Given the description of an element on the screen output the (x, y) to click on. 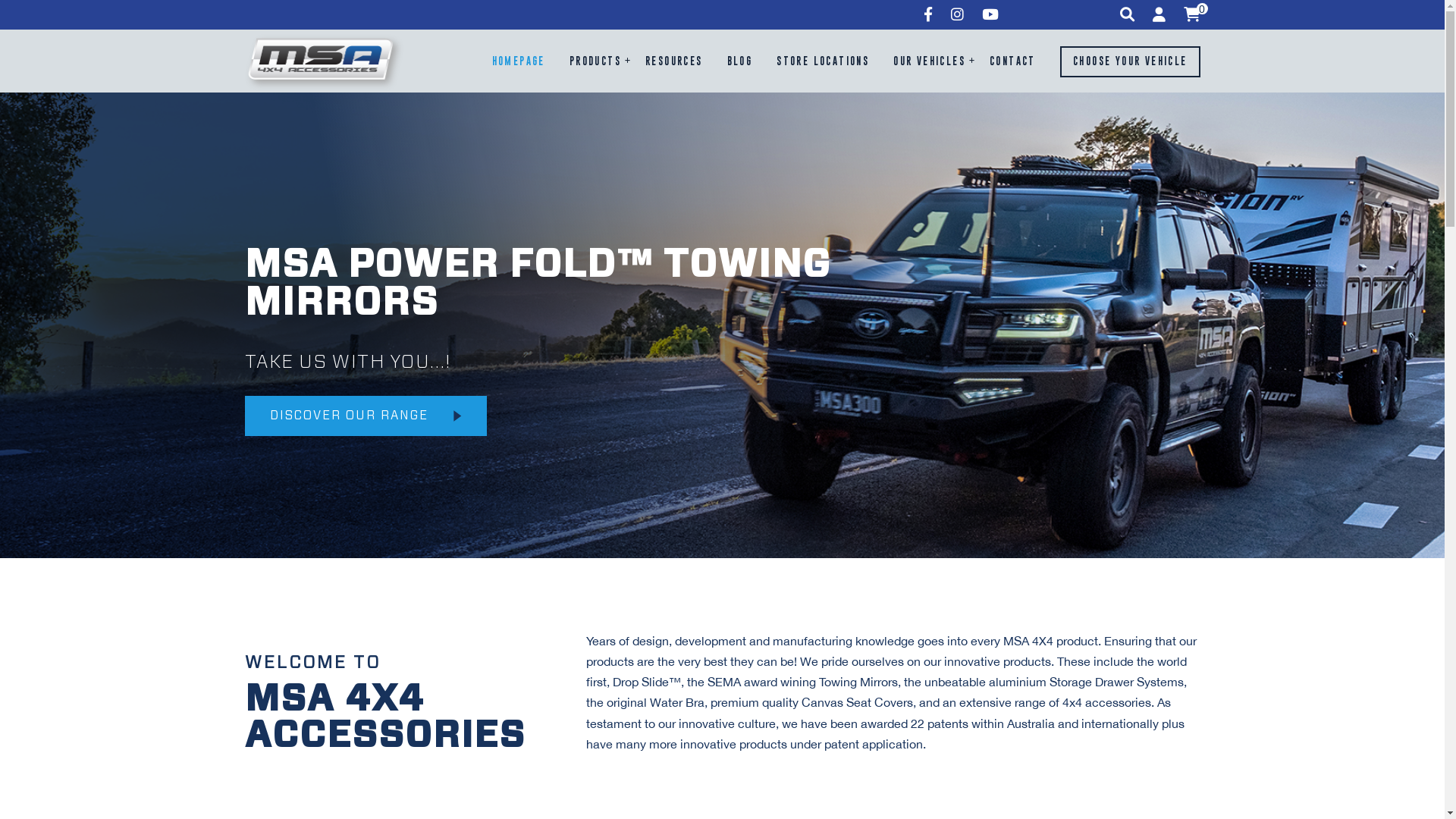
CONTACT Element type: text (1012, 61)
HOMEPAGE Element type: text (518, 61)
RESOURCES Element type: text (673, 61)
STORE LOCATIONS Element type: text (822, 61)
0 Element type: text (1191, 14)
OUR VEHICLES Element type: text (929, 61)
PRODUCTS Element type: text (595, 61)
CHOOSE YOUR VEHICLE Element type: text (1130, 61)
DISCOVER OUR RANGE Element type: text (365, 415)
BLOG Element type: text (740, 61)
